Given the description of an element on the screen output the (x, y) to click on. 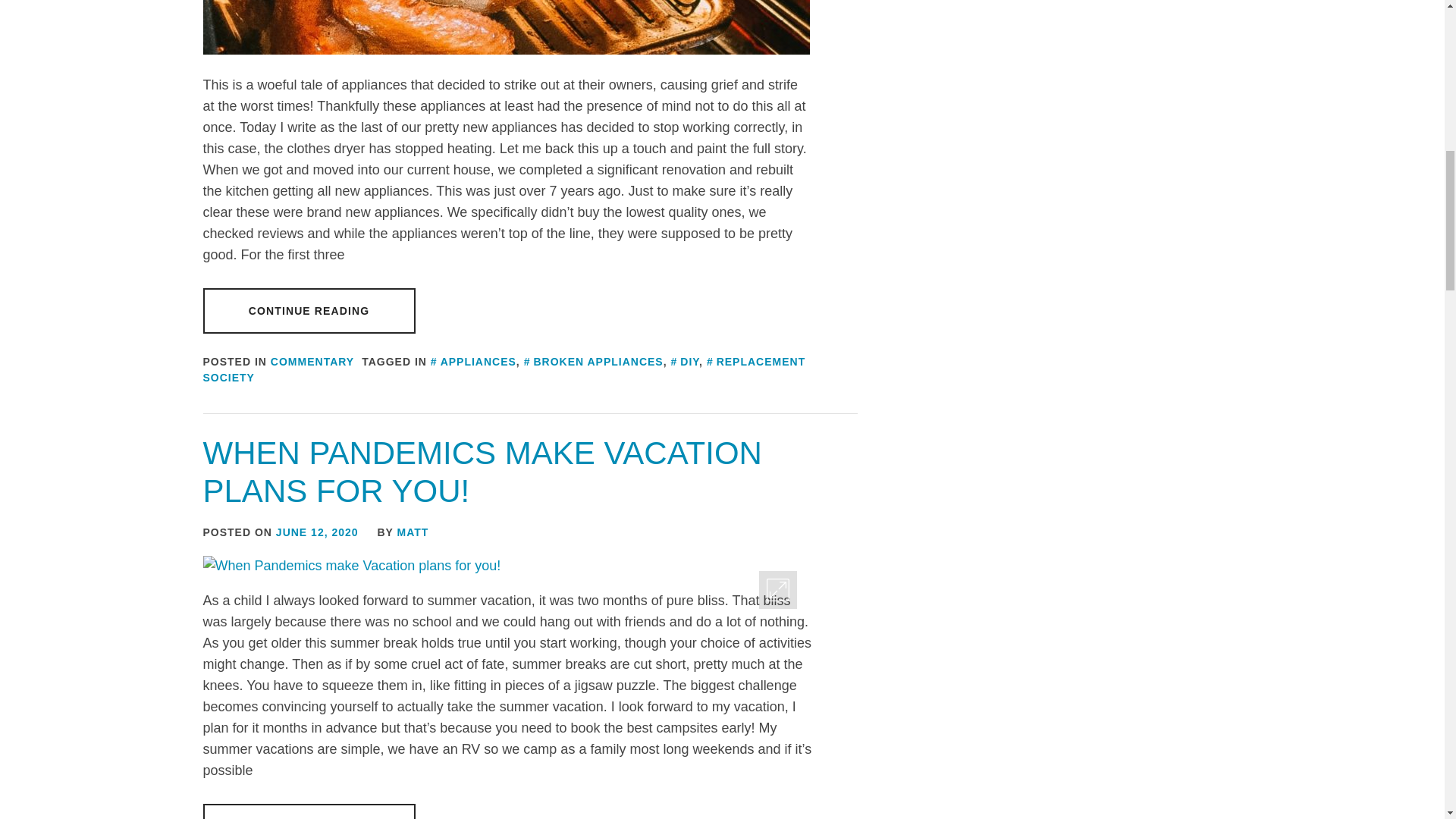
APPLIANCES (473, 361)
MATT (413, 532)
CONTINUE READING (308, 310)
BROKEN APPLIANCES (593, 361)
WHEN PANDEMICS MAKE VACATION PLANS FOR YOU! (482, 471)
COMMENTARY (311, 361)
CONTINUE READING (308, 811)
REPLACEMENT SOCIETY (504, 369)
DIY (683, 361)
JUNE 12, 2020 (317, 532)
